Given the description of an element on the screen output the (x, y) to click on. 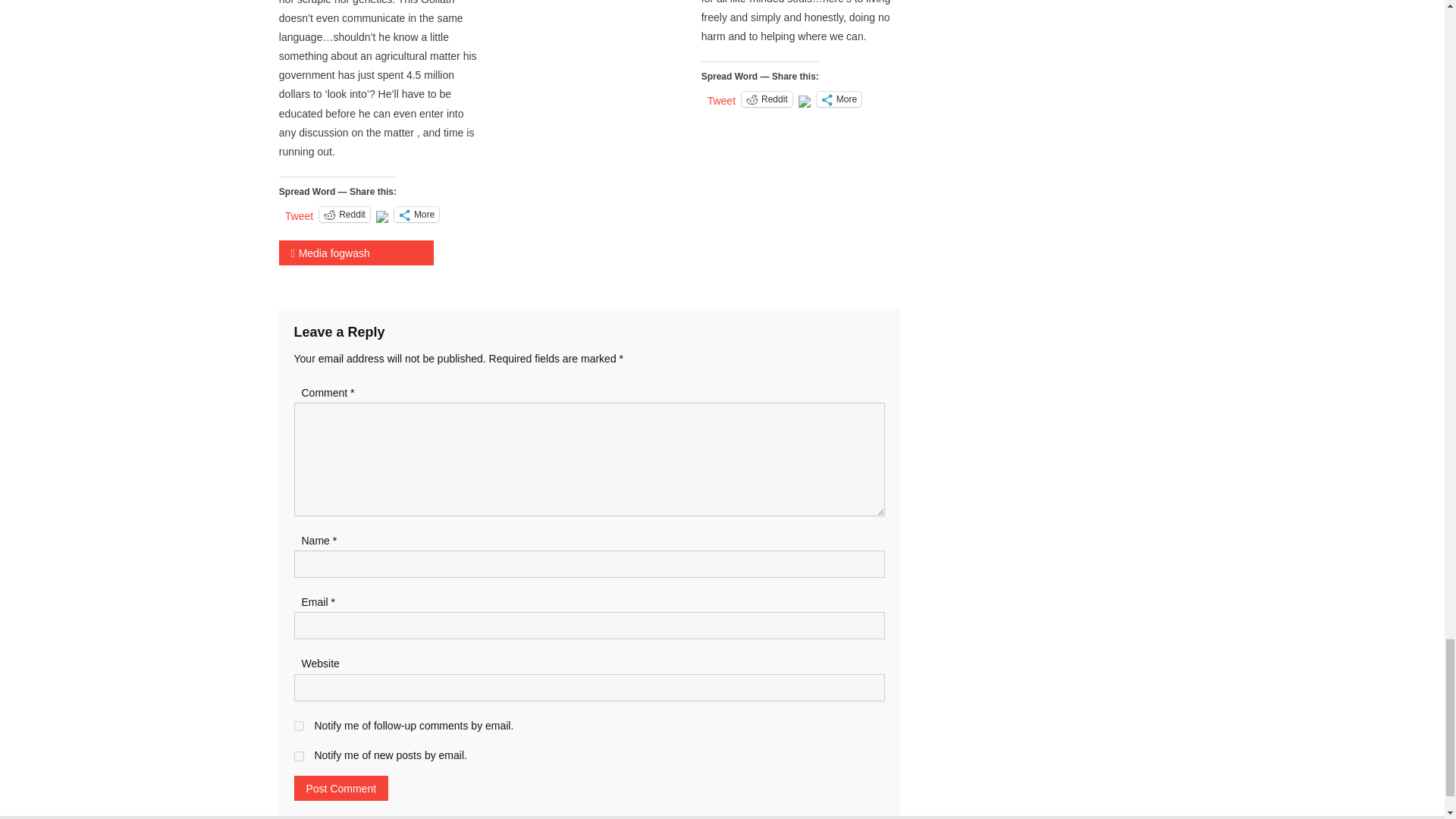
Post Comment (341, 787)
subscribe (299, 756)
Click to share on Reddit (343, 214)
subscribe (299, 726)
Click to share on Reddit (766, 98)
